Given the description of an element on the screen output the (x, y) to click on. 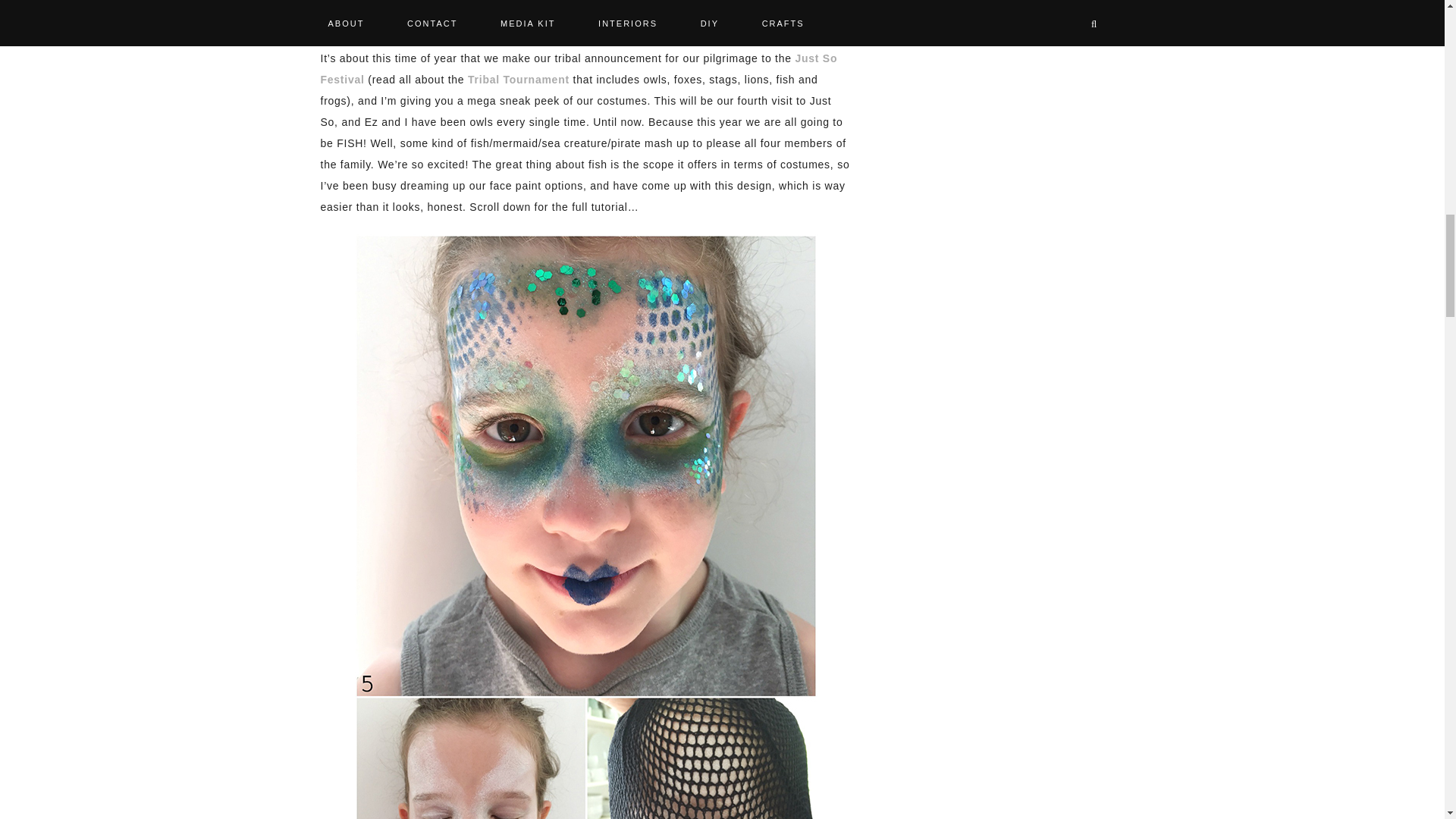
Just So Festival (578, 68)
Tribal Tournament (518, 79)
